Given the description of an element on the screen output the (x, y) to click on. 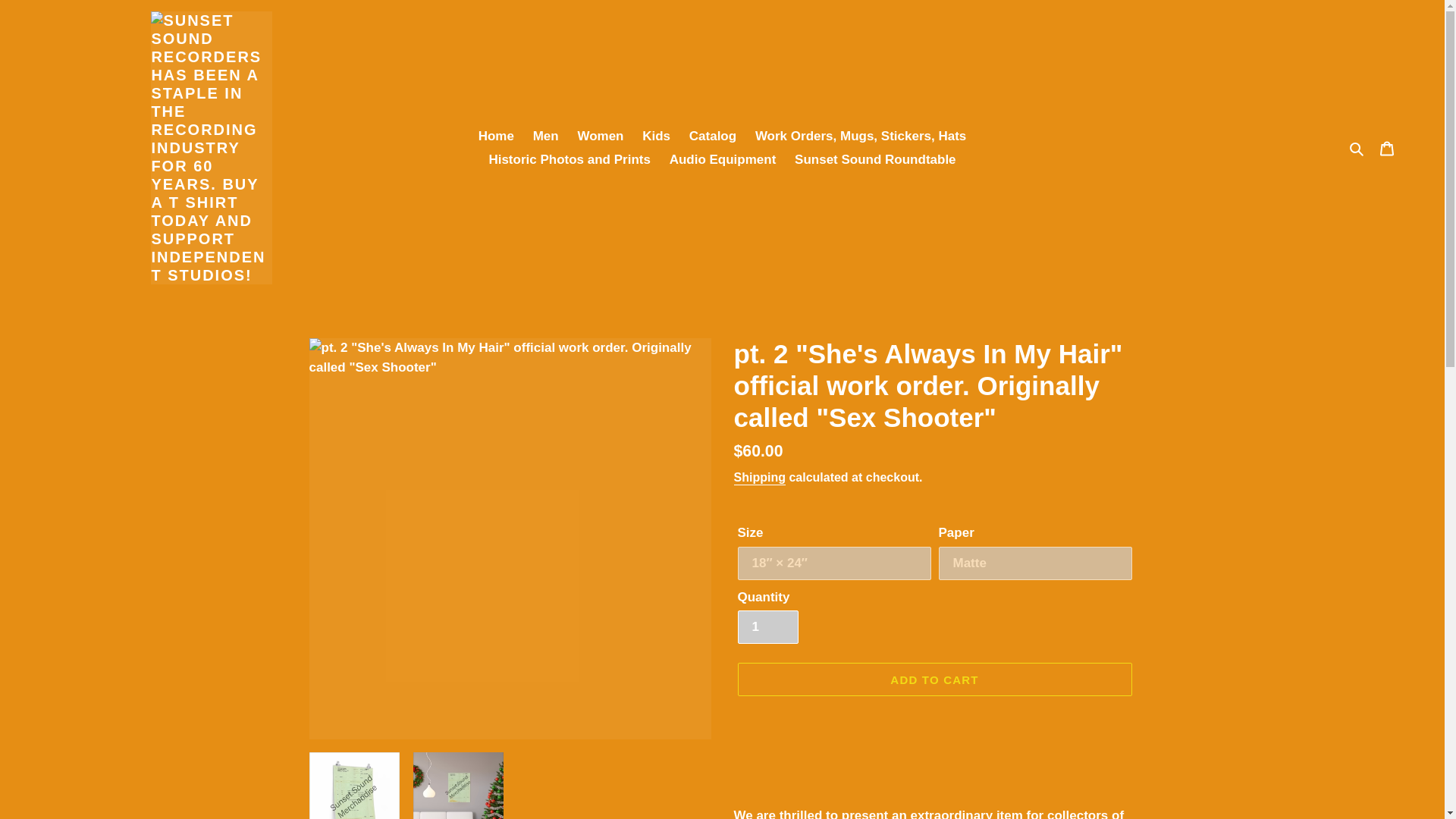
ADD TO CART (933, 679)
1 (766, 626)
Catalog (712, 136)
Shipping (759, 477)
Men (545, 136)
Women (599, 136)
Sunset Sound Roundtable (875, 159)
Historic Photos and Prints (569, 159)
Home (495, 136)
Work Orders, Mugs, Stickers, Hats (861, 136)
